Given the description of an element on the screen output the (x, y) to click on. 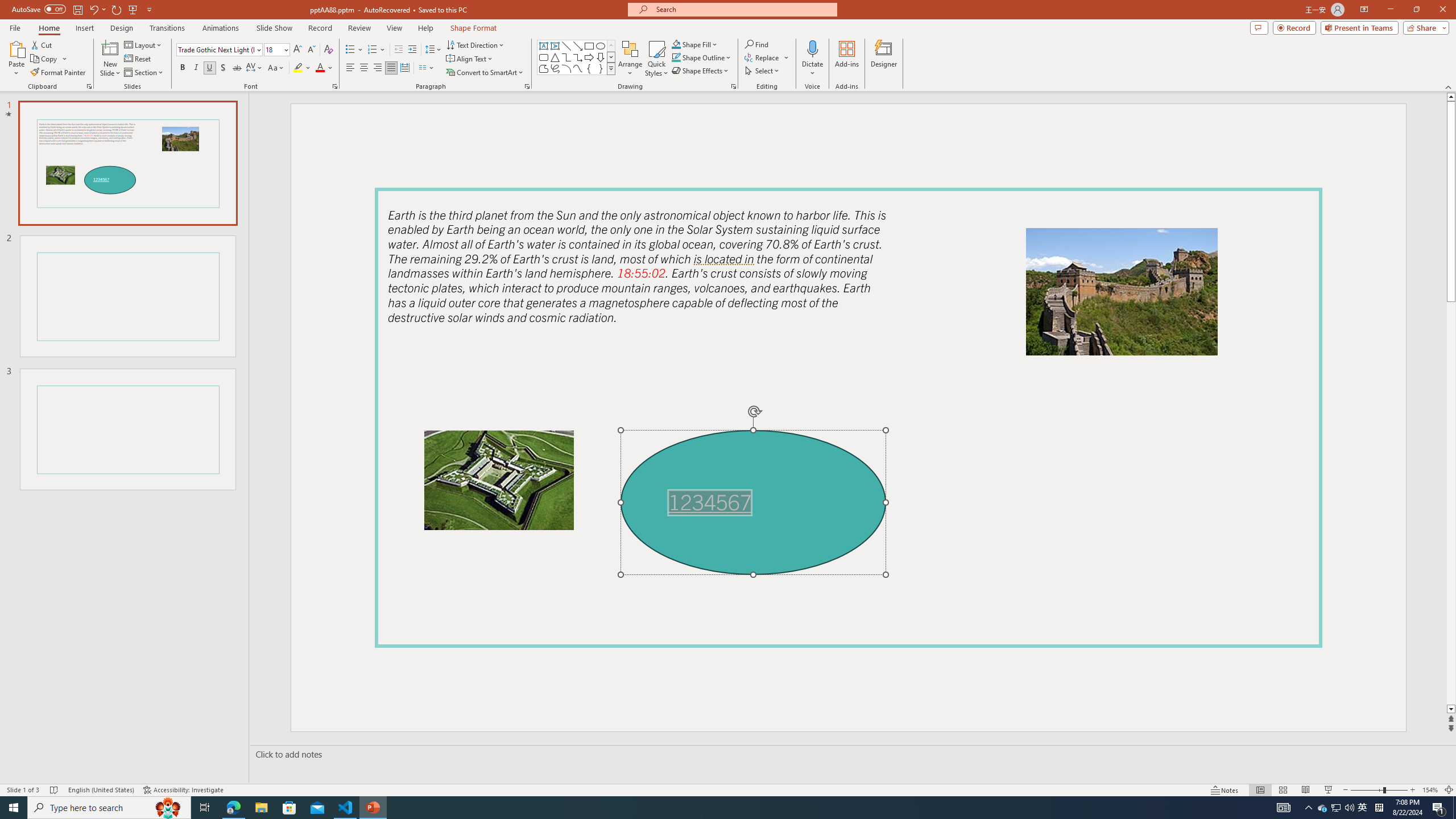
Shape Outline Teal, Accent 1 (675, 56)
